Given the description of an element on the screen output the (x, y) to click on. 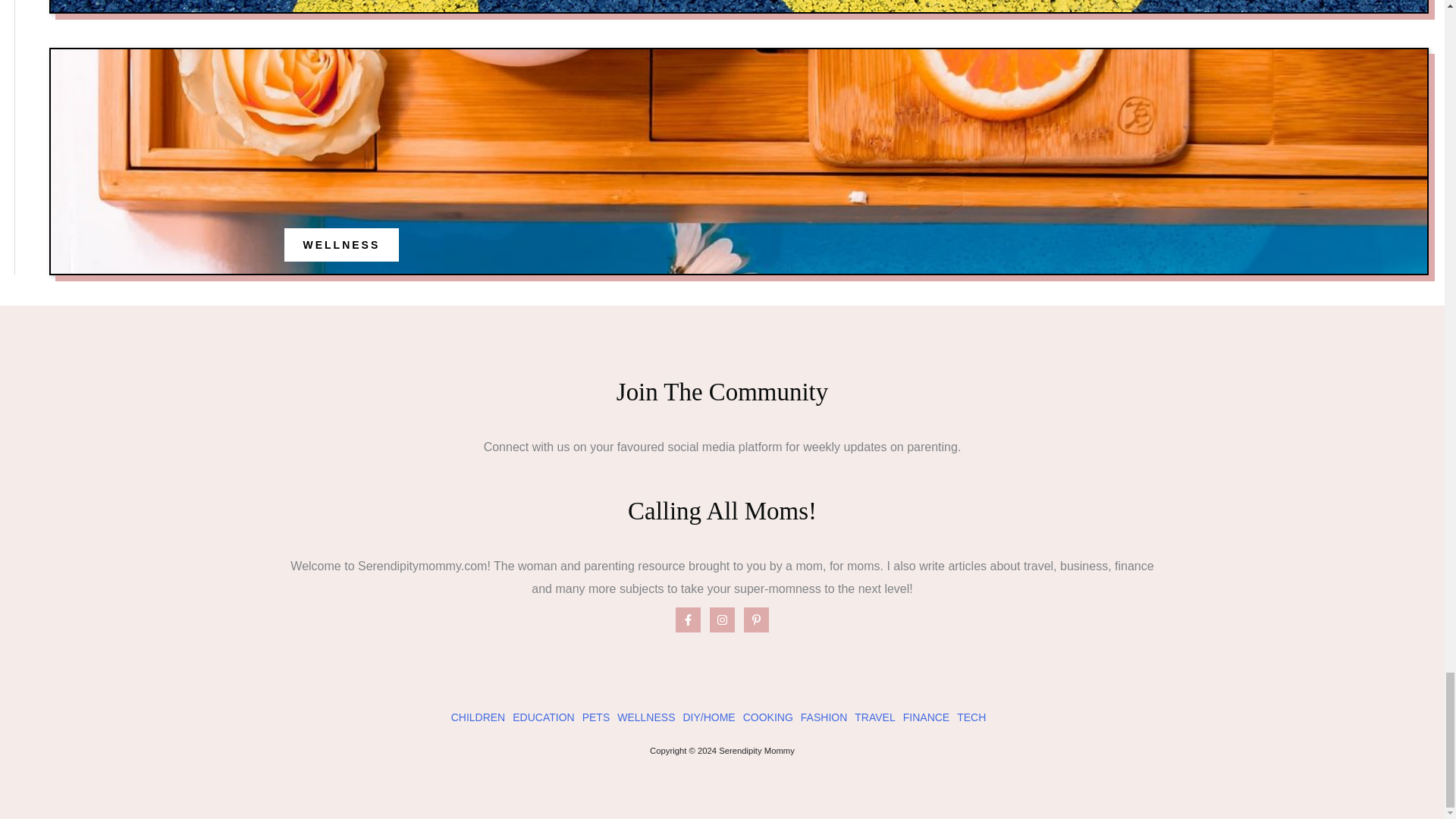
WELLNESS (341, 244)
EDUCATION (542, 717)
PETS (596, 717)
CHILDREN (478, 717)
